Given the description of an element on the screen output the (x, y) to click on. 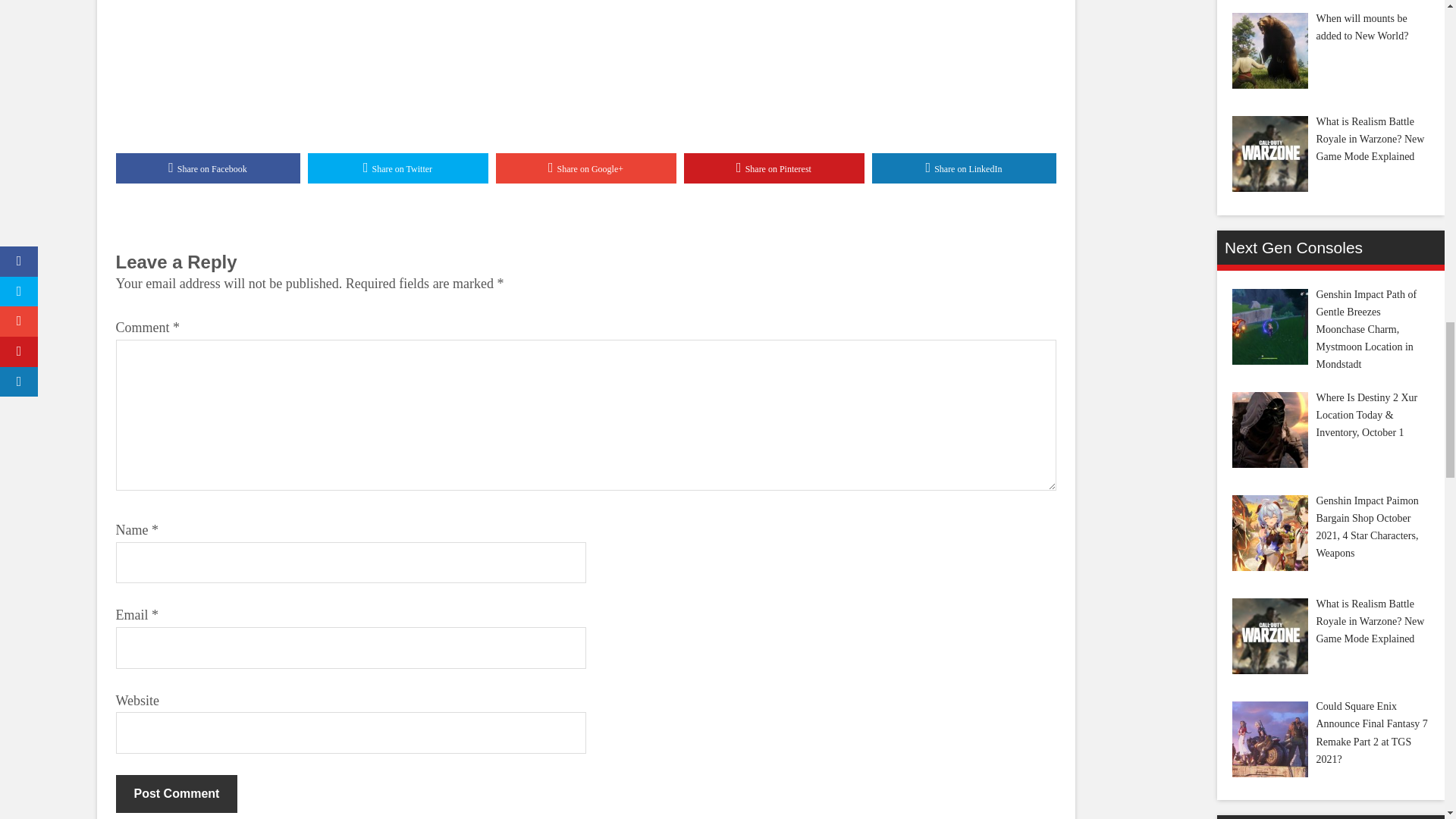
Post Comment (176, 793)
